Given the description of an element on the screen output the (x, y) to click on. 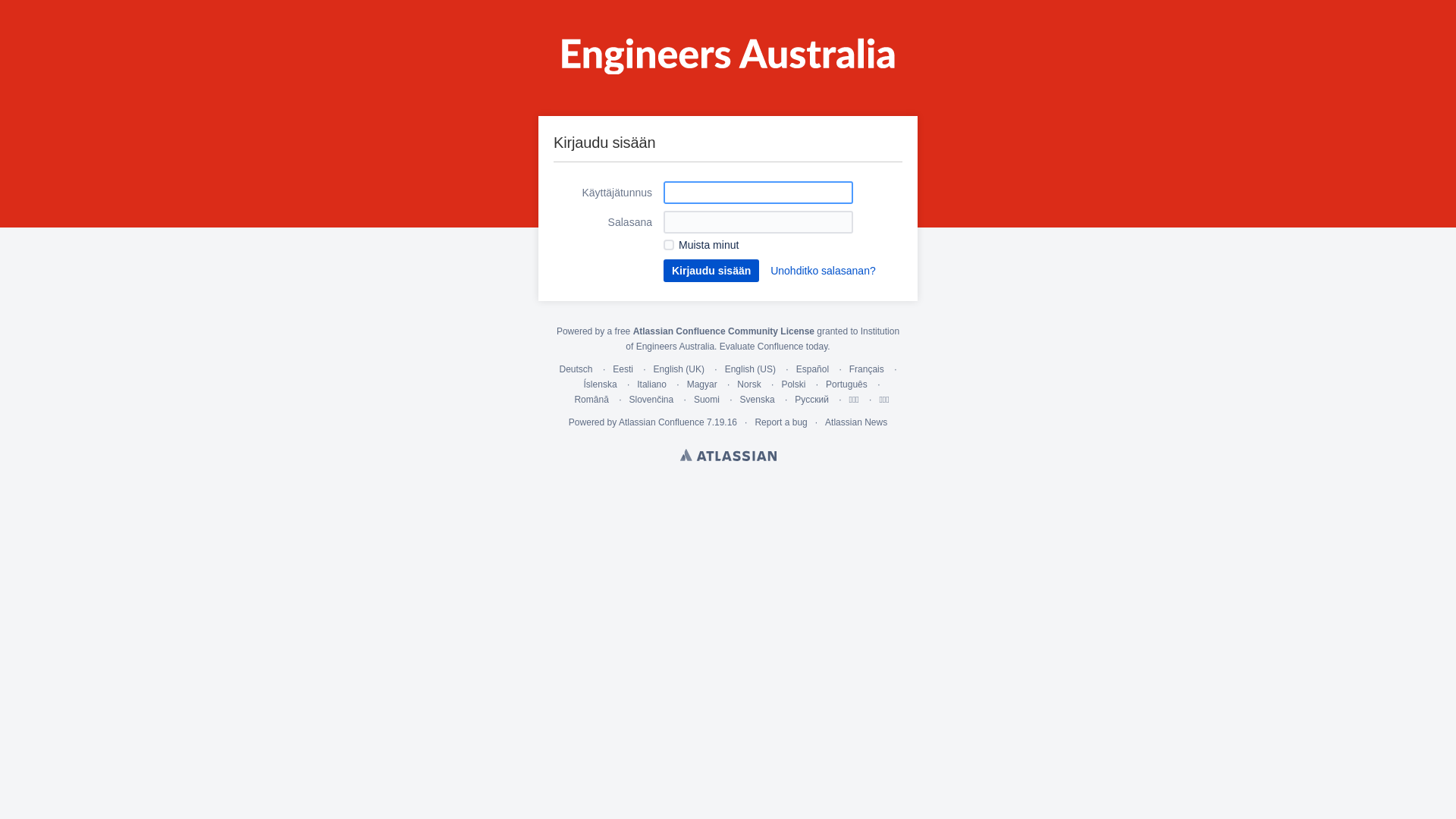
Atlassian Confluence Element type: text (661, 422)
Magyar Element type: text (702, 384)
Eesti Element type: text (622, 369)
Atlassian News Element type: text (856, 422)
Suomi Element type: text (706, 399)
Report a bug Element type: text (780, 422)
Polski Element type: text (793, 384)
Atlassian Element type: text (727, 454)
English (UK) Element type: text (678, 369)
Norsk Element type: text (748, 384)
Unohditko salasanan? Element type: text (822, 270)
Svenska Element type: text (757, 399)
Deutsch Element type: text (576, 369)
Italiano Element type: text (651, 384)
English (US) Element type: text (749, 369)
Evaluate Confluence today Element type: text (773, 346)
